Given the description of an element on the screen output the (x, y) to click on. 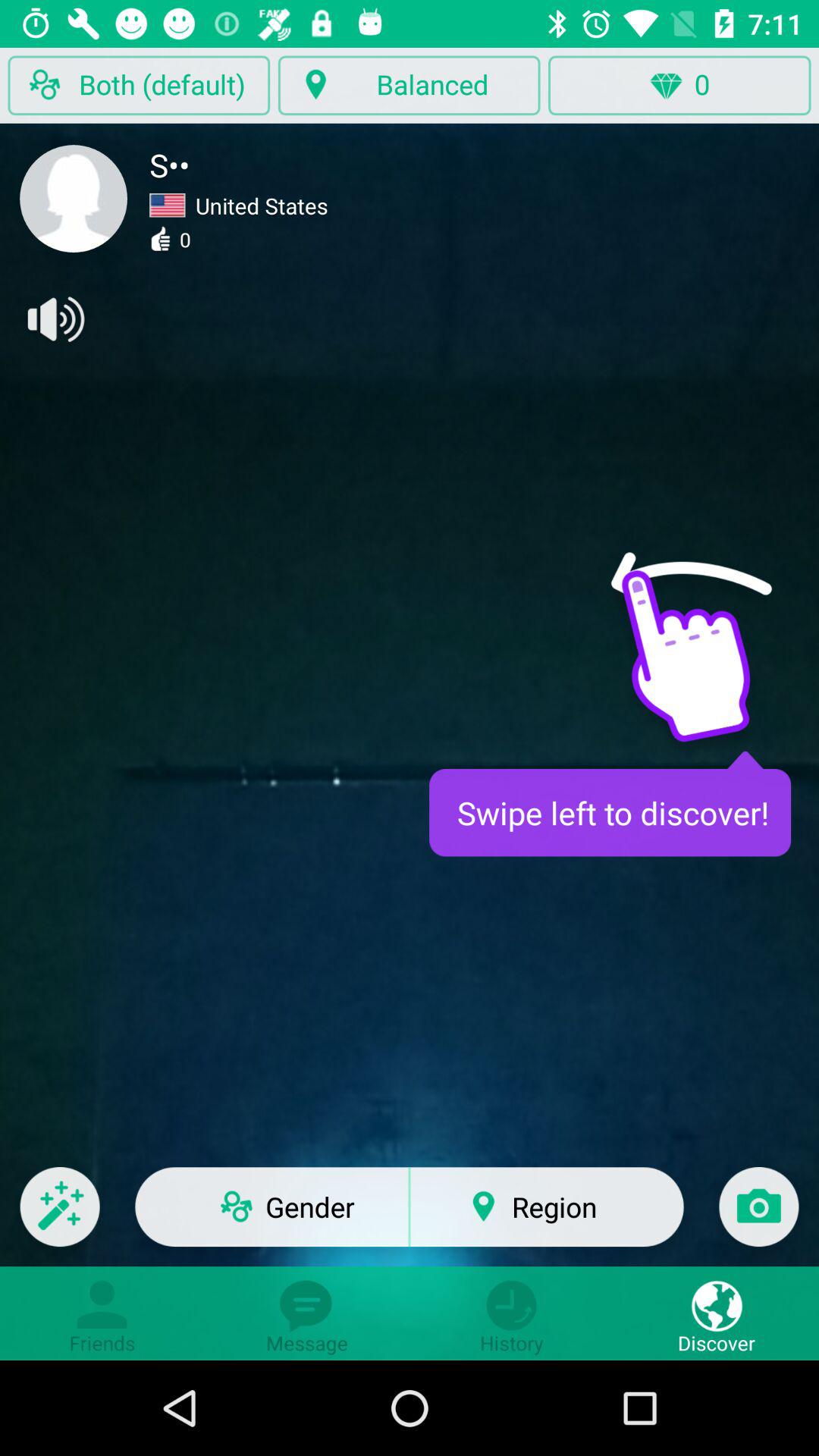
listen (54, 319)
